Given the description of an element on the screen output the (x, y) to click on. 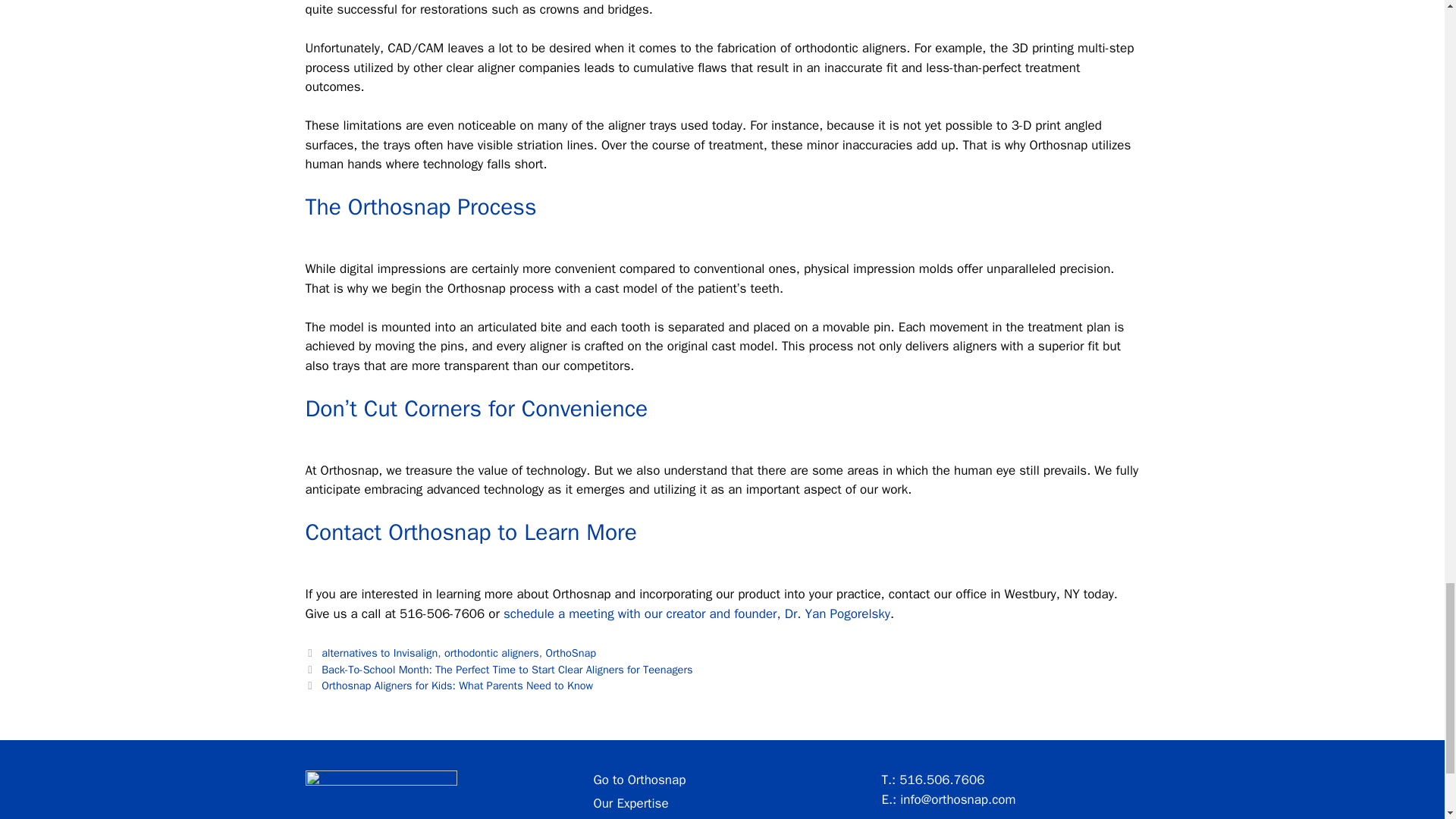
OrthoSnap (569, 653)
alternatives to Invisalign (379, 653)
orthodontic aligners (491, 653)
Next (448, 685)
Previous (498, 669)
Partnership (625, 818)
T.: 516.506.7606 (932, 779)
Our Expertise (630, 802)
Orthosnap Aligners for Kids: What Parents Need to Know (456, 685)
